Given the description of an element on the screen output the (x, y) to click on. 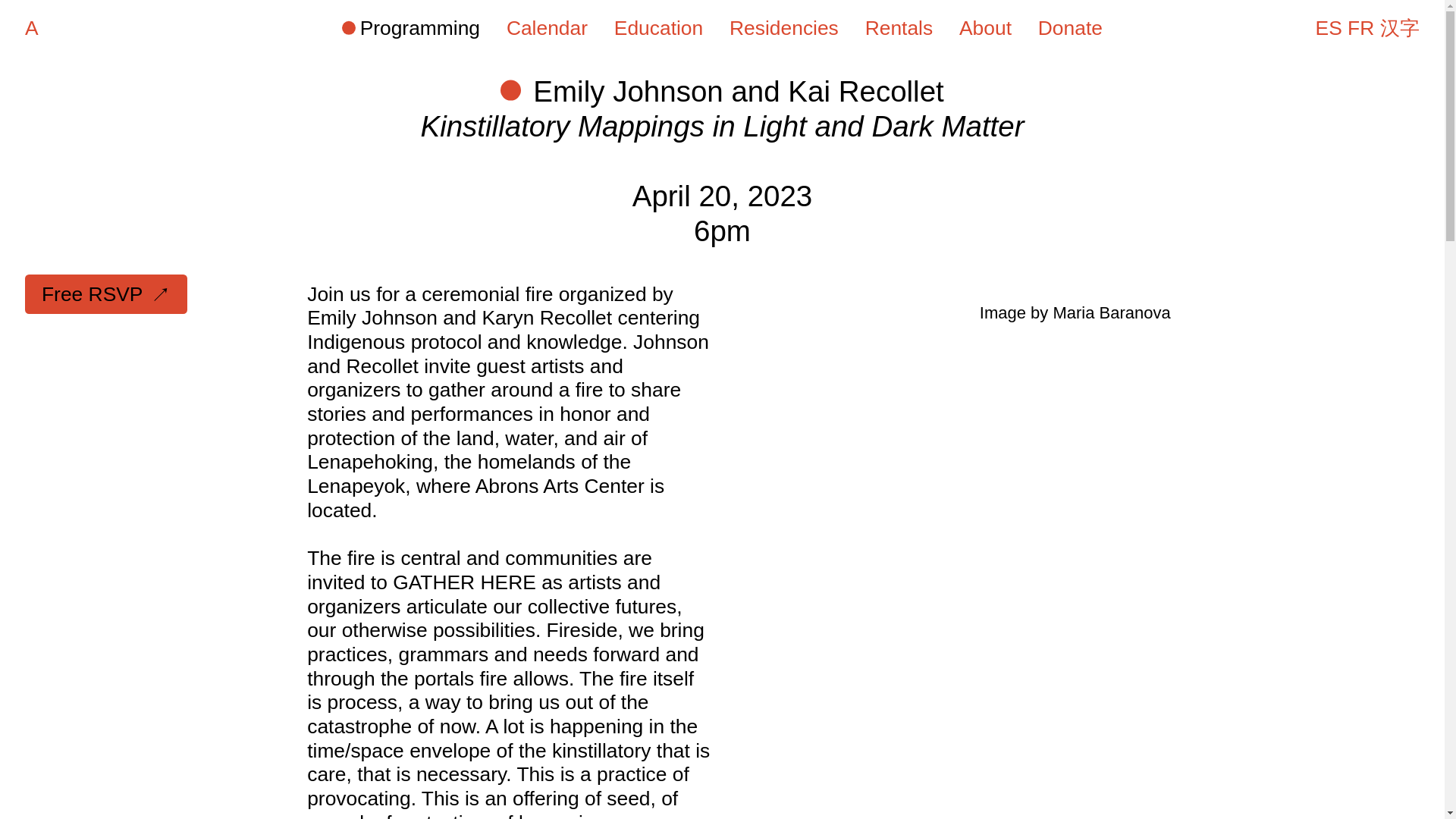
Free RSVP (106, 293)
Rentals (896, 27)
Programming (411, 27)
Calendar (545, 27)
Education (656, 27)
Residencies (781, 27)
Donate (1067, 28)
About (983, 27)
